Given the description of an element on the screen output the (x, y) to click on. 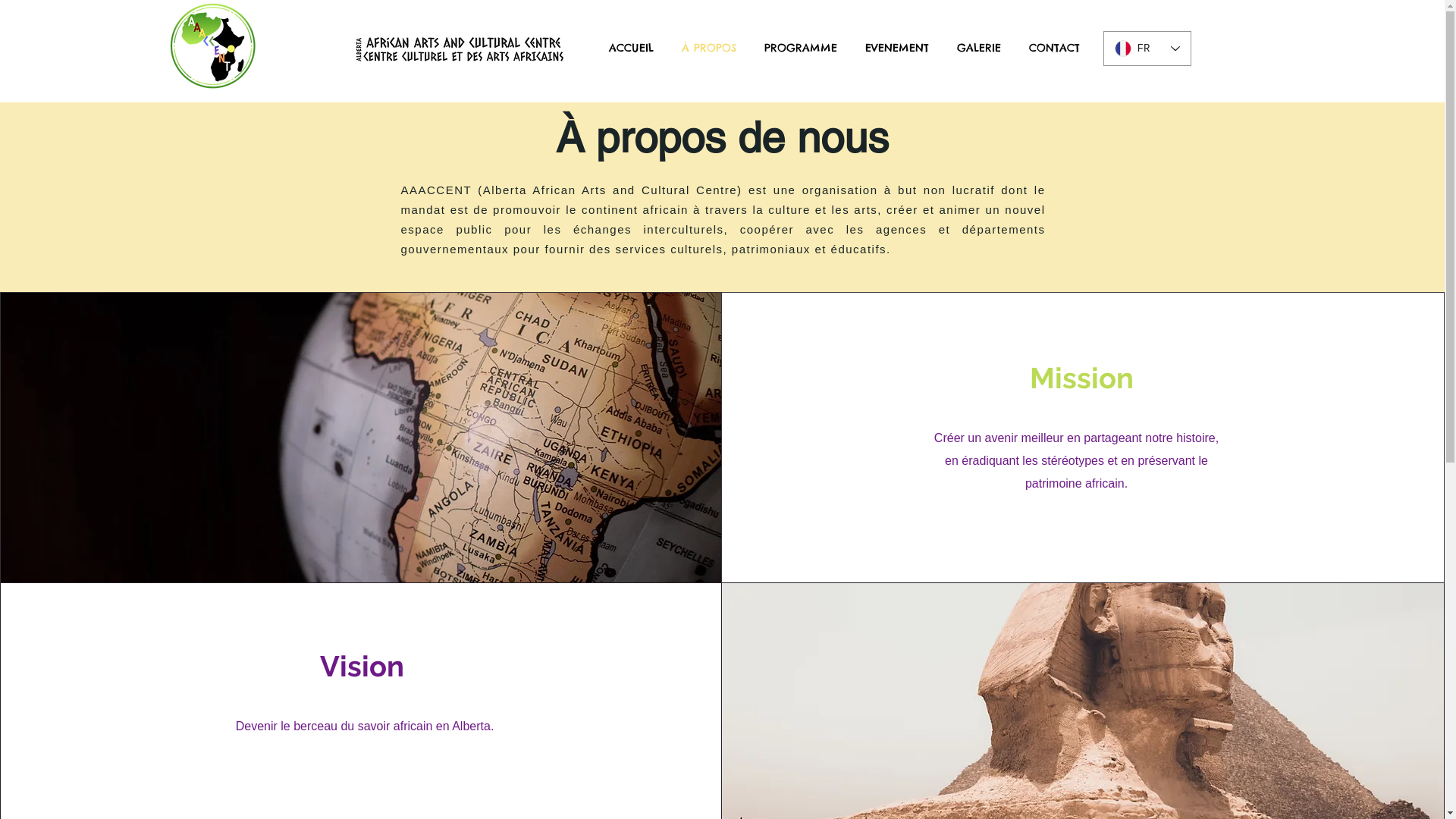
PROGRAMME Element type: text (800, 47)
ACCUEIL Element type: text (631, 47)
EVENEMENT Element type: text (896, 47)
CONTACT Element type: text (1053, 47)
GALERIE Element type: text (979, 47)
